Given the description of an element on the screen output the (x, y) to click on. 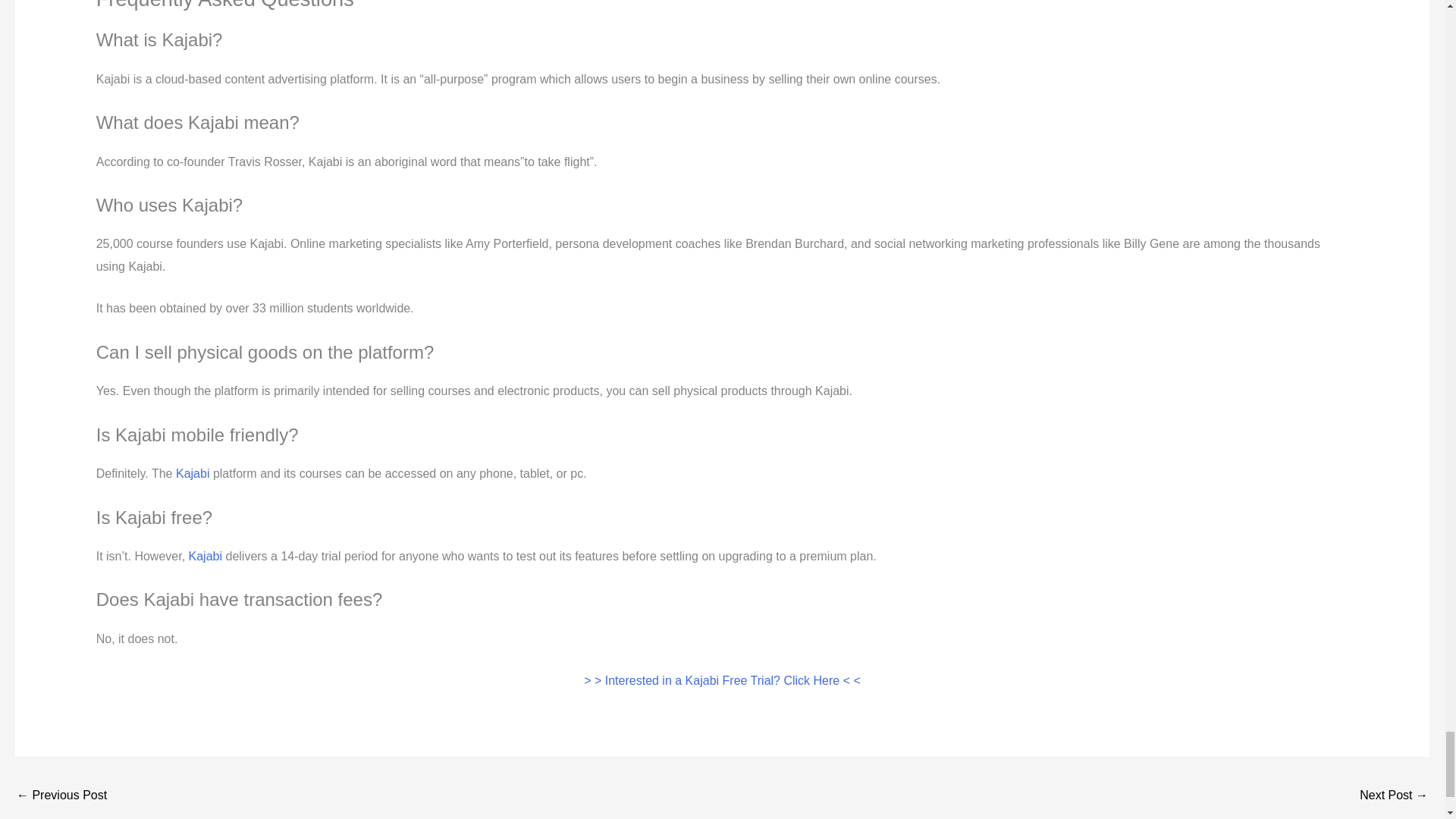
Kajabi (205, 555)
Kajabi vs Fedora (1393, 796)
Kajabi (192, 472)
Savvy System Kajabi (61, 796)
